Given the description of an element on the screen output the (x, y) to click on. 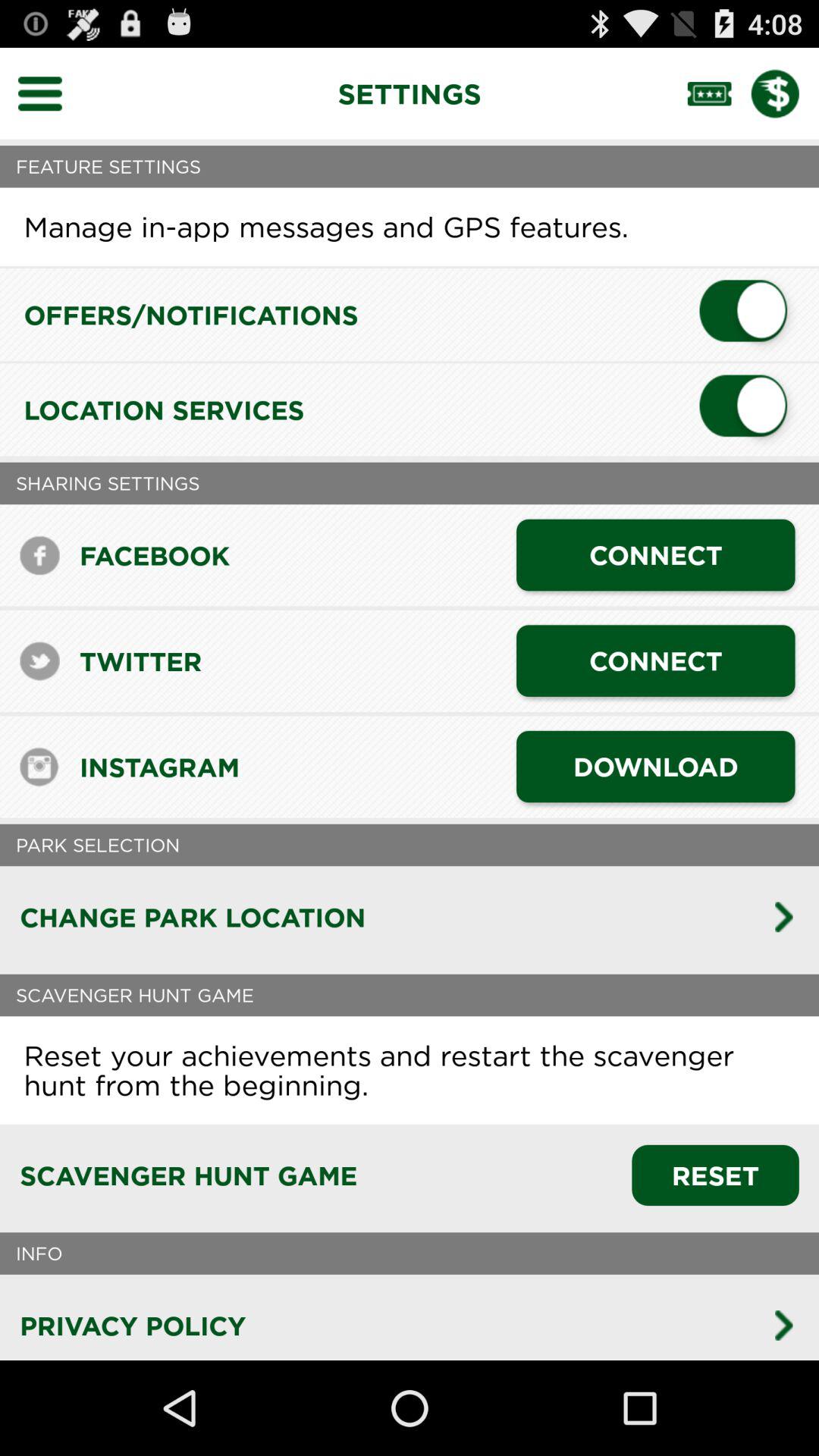
menu (49, 93)
